Given the description of an element on the screen output the (x, y) to click on. 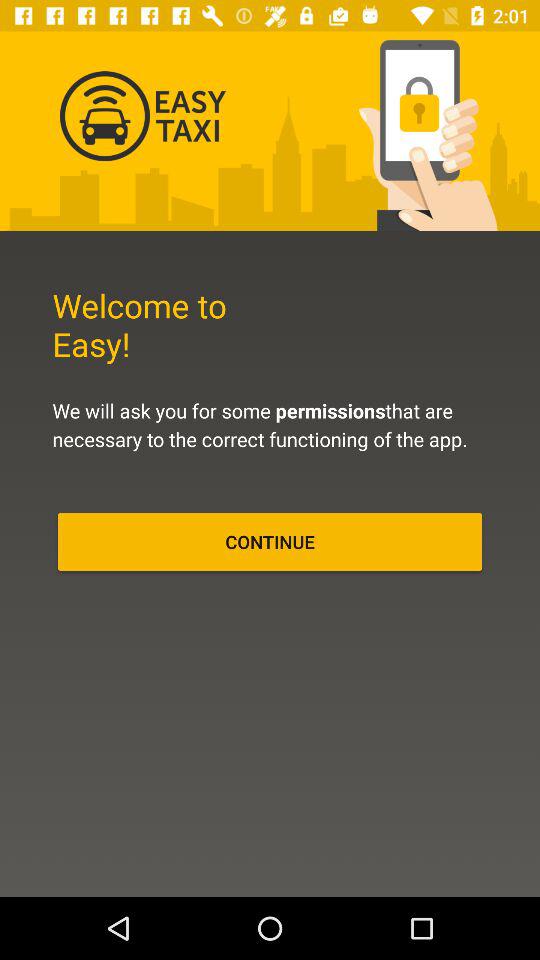
flip to the continue item (269, 541)
